Given the description of an element on the screen output the (x, y) to click on. 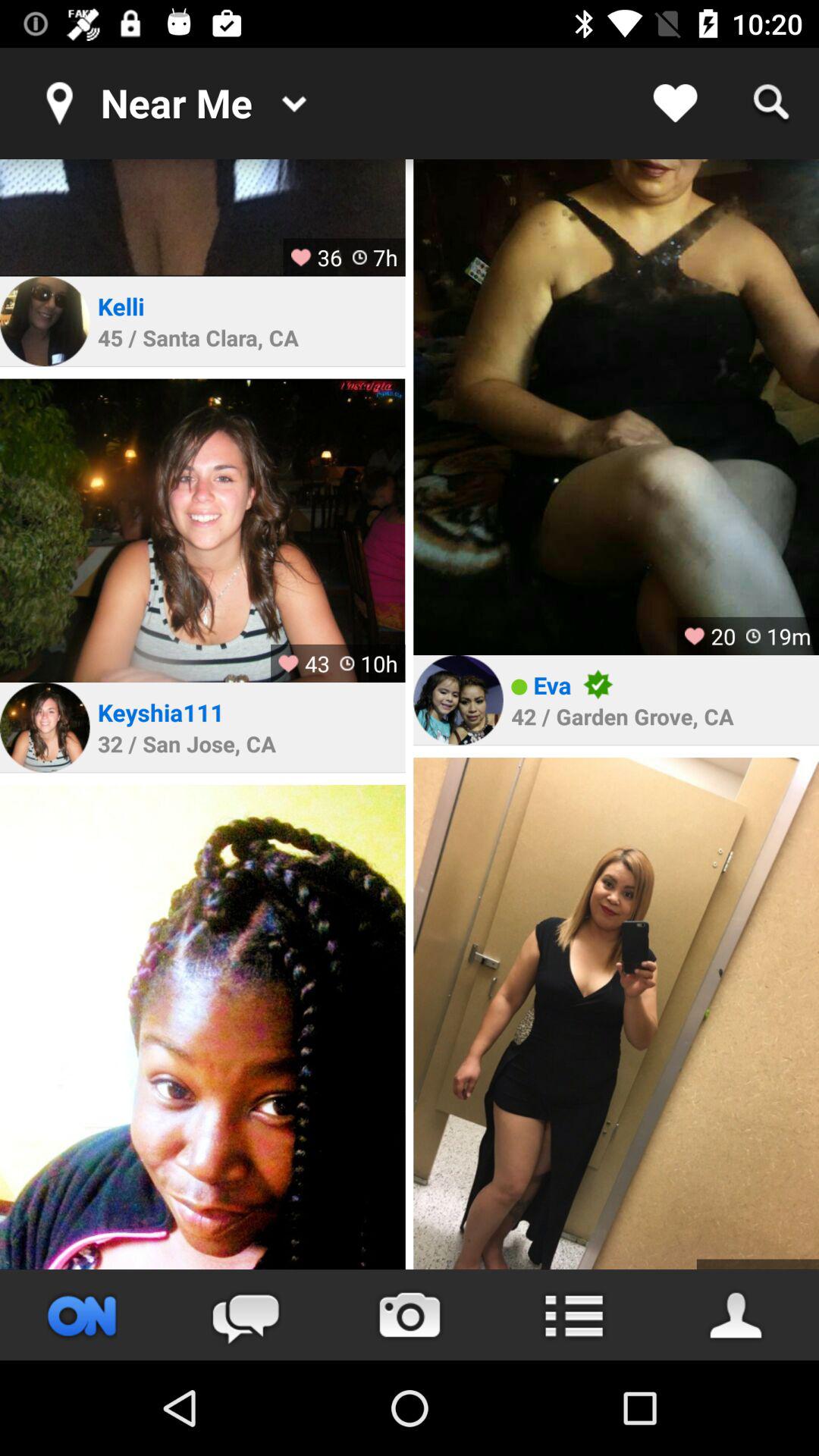
enlarge photo (202, 1026)
